Given the description of an element on the screen output the (x, y) to click on. 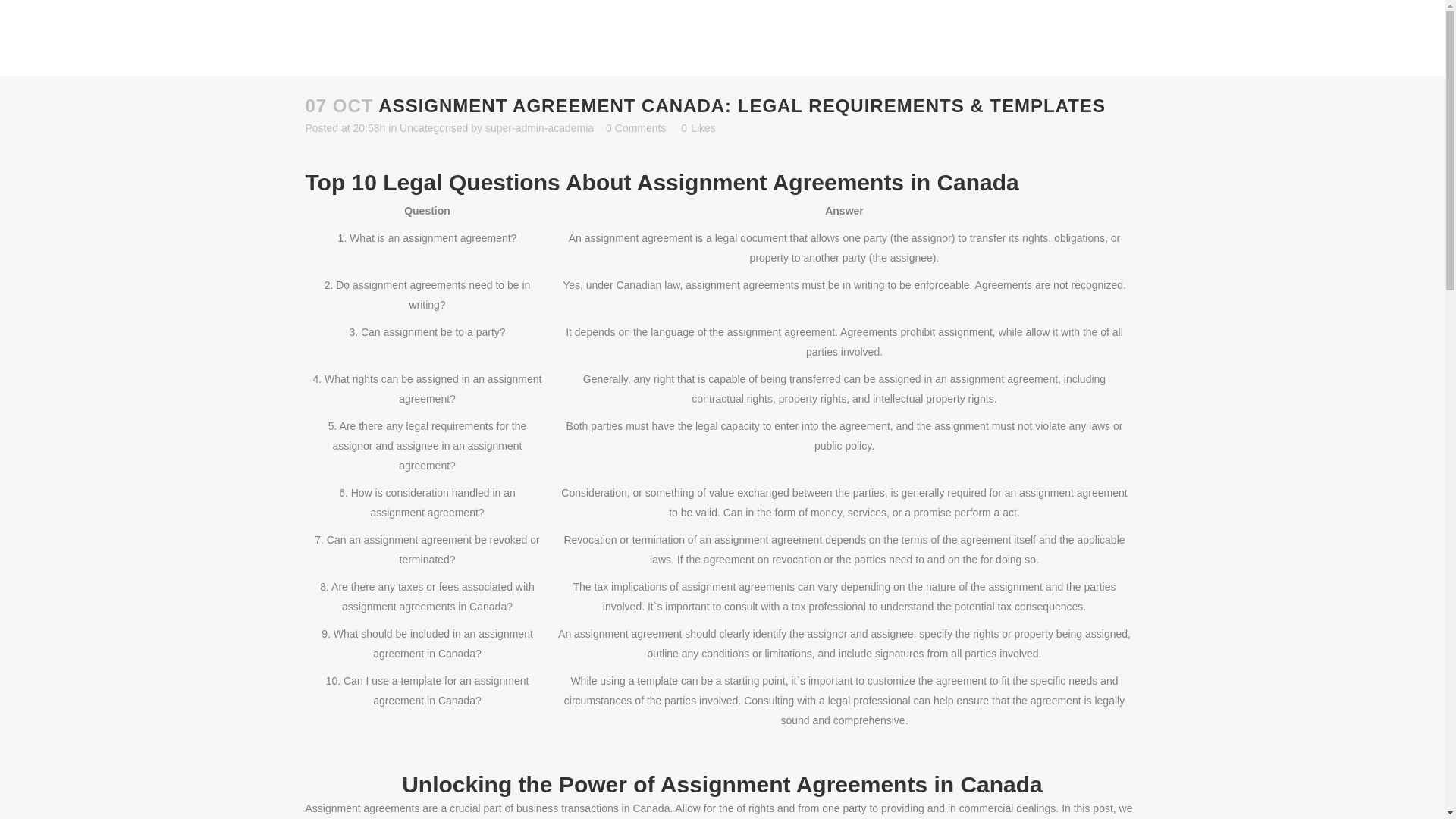
0 Comments (635, 128)
0 Likes (697, 127)
Like this (697, 127)
super-admin-academia (539, 128)
